Given the description of an element on the screen output the (x, y) to click on. 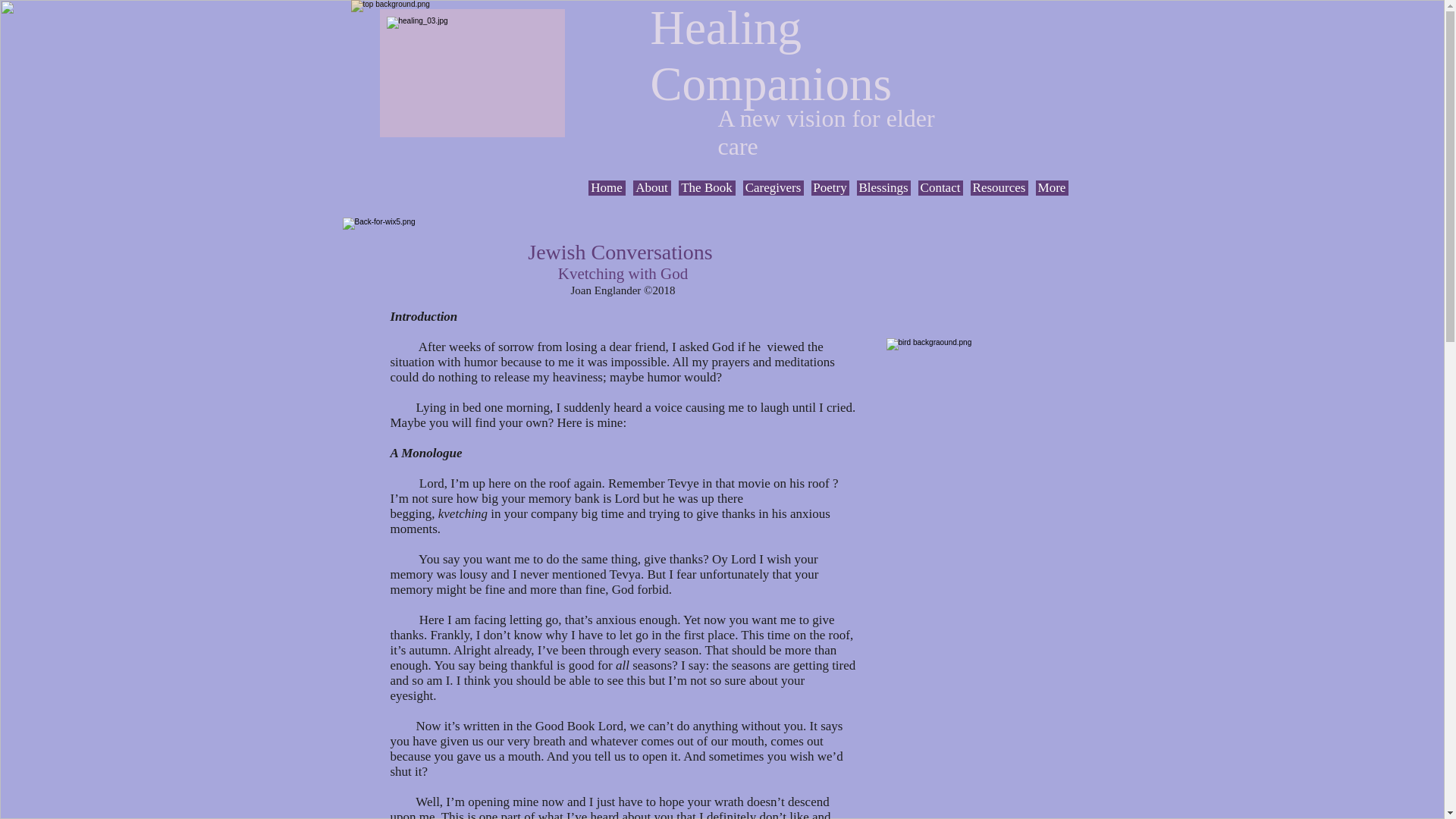
Healing Companions (771, 54)
Contact (939, 187)
A new vision for elder care (825, 131)
Home (607, 187)
Resources (999, 187)
